Given the description of an element on the screen output the (x, y) to click on. 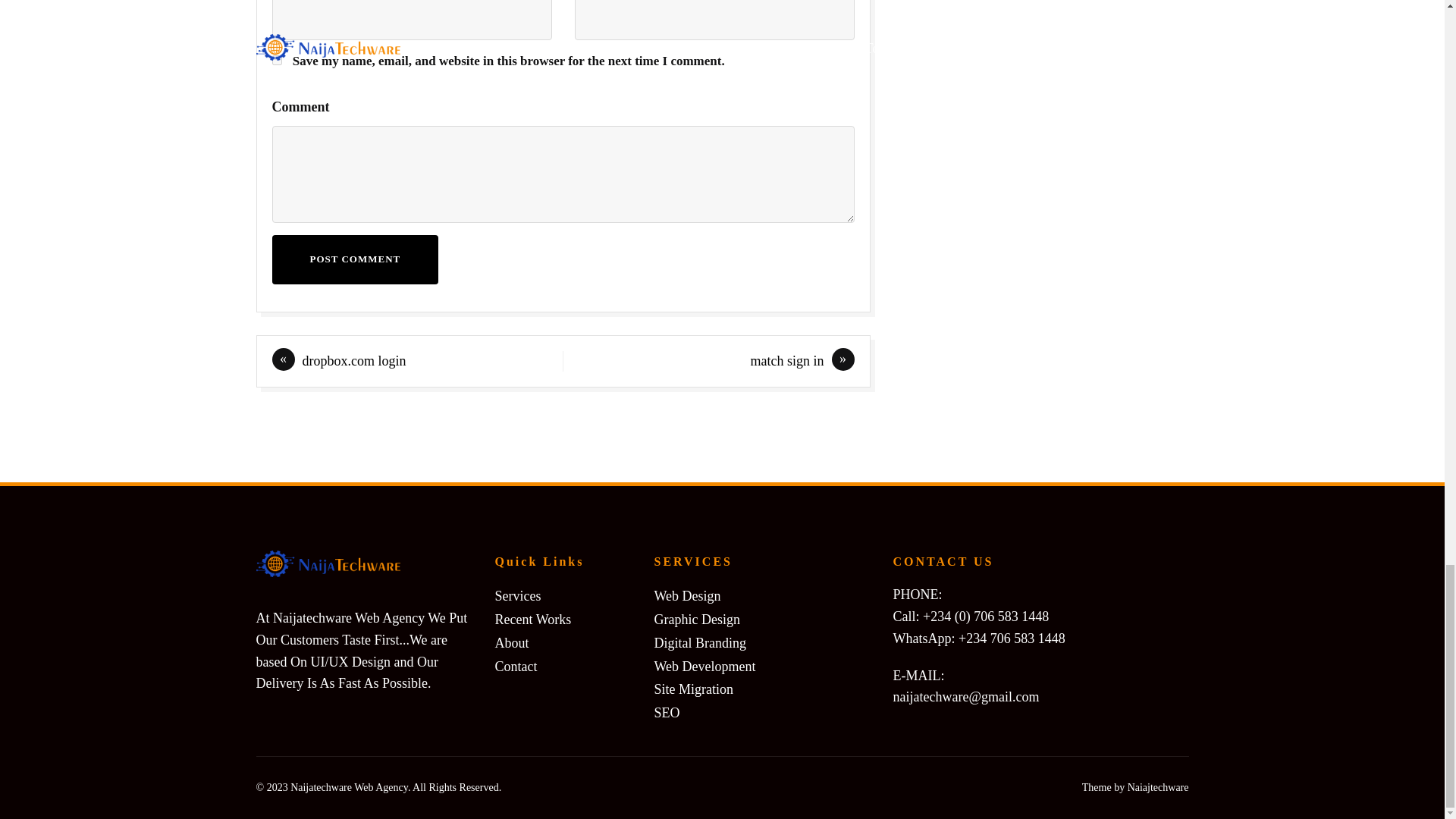
About (511, 643)
Graphic Design (696, 619)
Contact (516, 667)
yes (275, 60)
match sign in (787, 360)
Site Migration (693, 689)
dropbox.com login (353, 360)
Web Development (704, 667)
Recent Works (532, 619)
Services (517, 596)
